Given the description of an element on the screen output the (x, y) to click on. 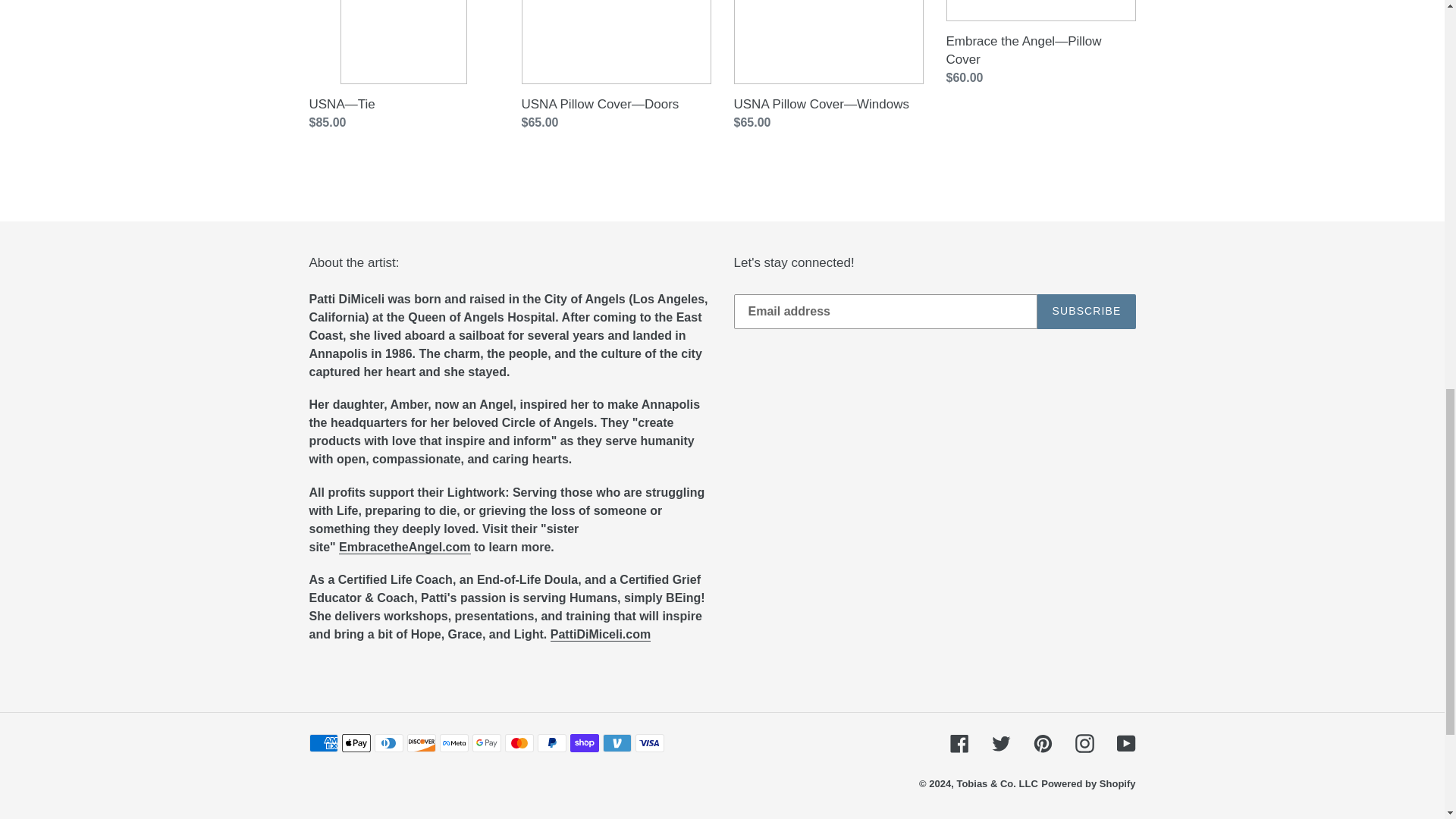
EmbracetheAngel.com (404, 547)
PattiDiMiceli.com (600, 634)
